Given the description of an element on the screen output the (x, y) to click on. 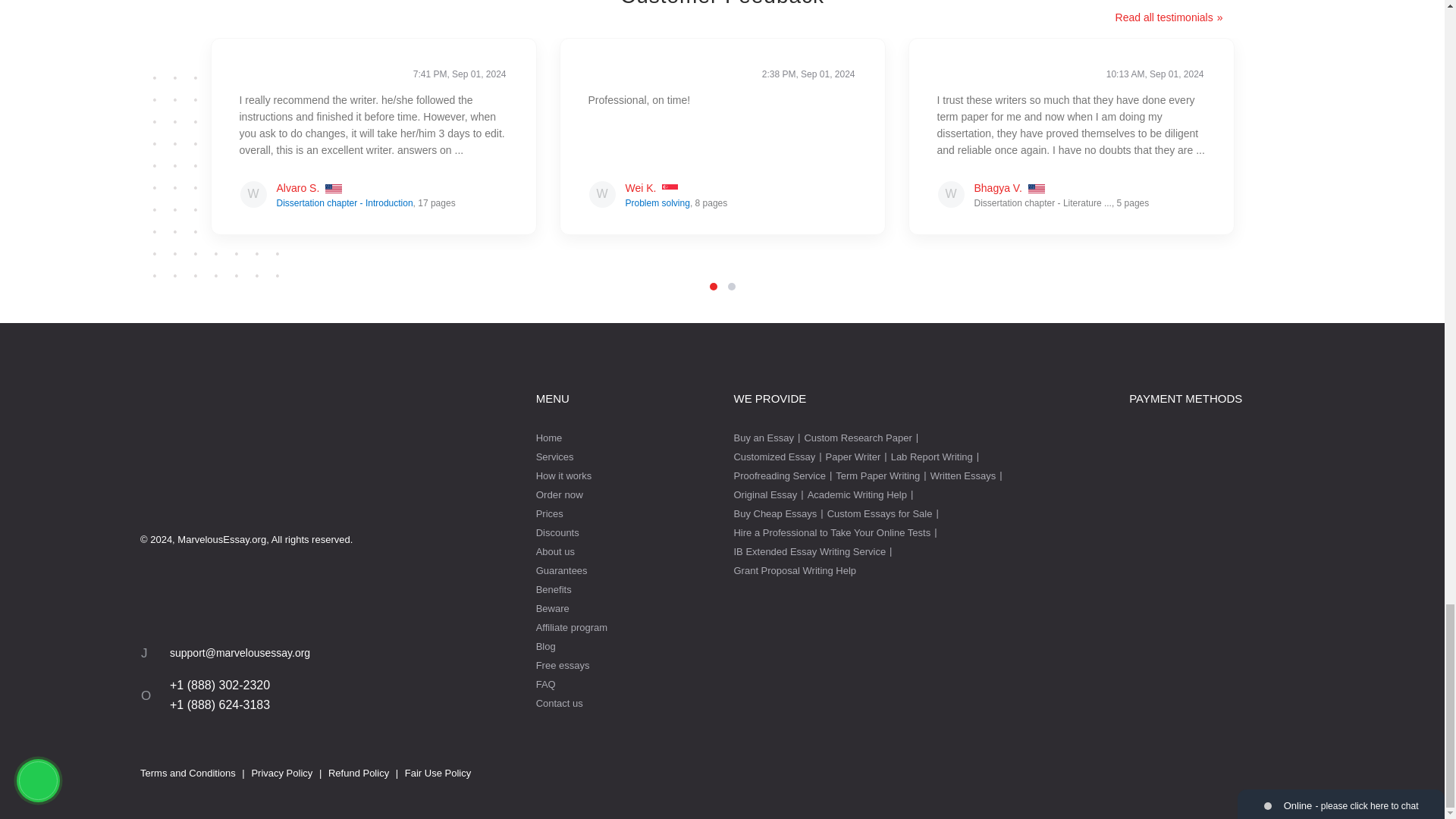
USA (1036, 189)
USA (333, 189)
Singapore (670, 189)
